Given the description of an element on the screen output the (x, y) to click on. 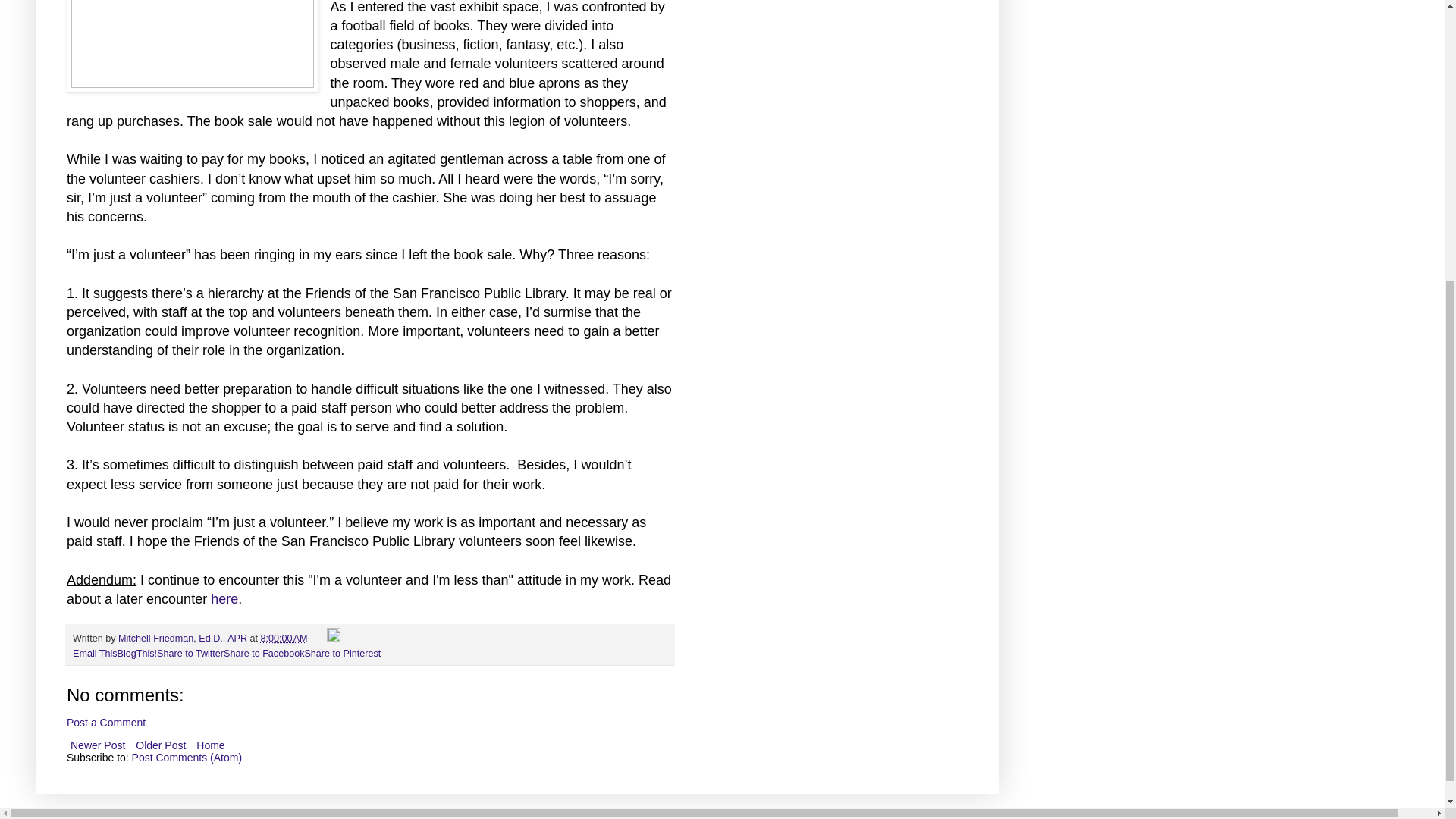
BlogThis! (137, 653)
Older Post (160, 745)
permanent link (283, 638)
Email This (94, 653)
Newer Post (97, 745)
here (224, 598)
Newer Post (97, 745)
Share to Twitter (190, 653)
BlogThis! (137, 653)
Share to Twitter (190, 653)
Mitchell Friedman, Ed.D., APR (183, 638)
Share to Facebook (264, 653)
Share to Pinterest (342, 653)
Share to Pinterest (342, 653)
